Given the description of an element on the screen output the (x, y) to click on. 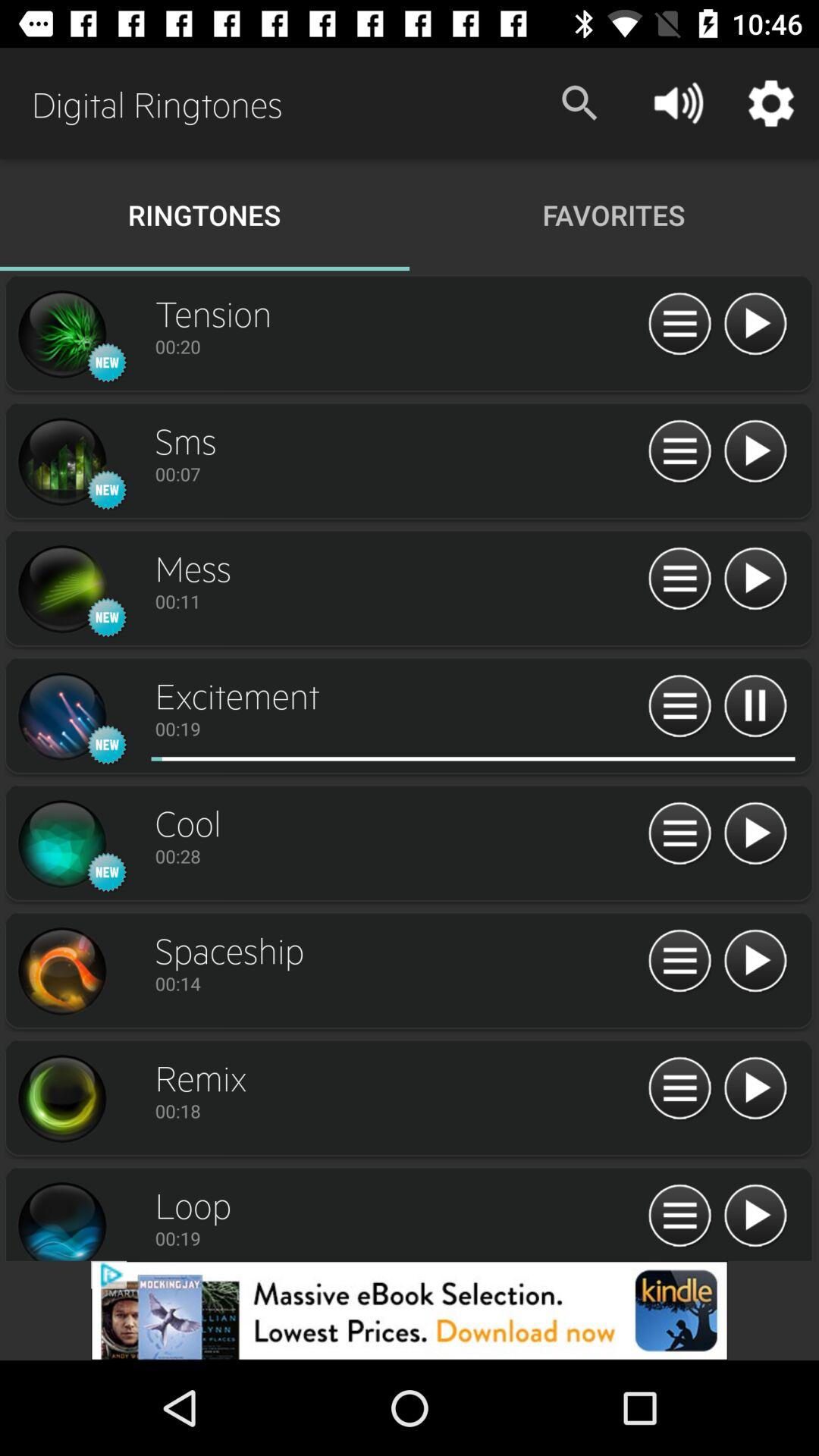
expand item (679, 451)
